Given the description of an element on the screen output the (x, y) to click on. 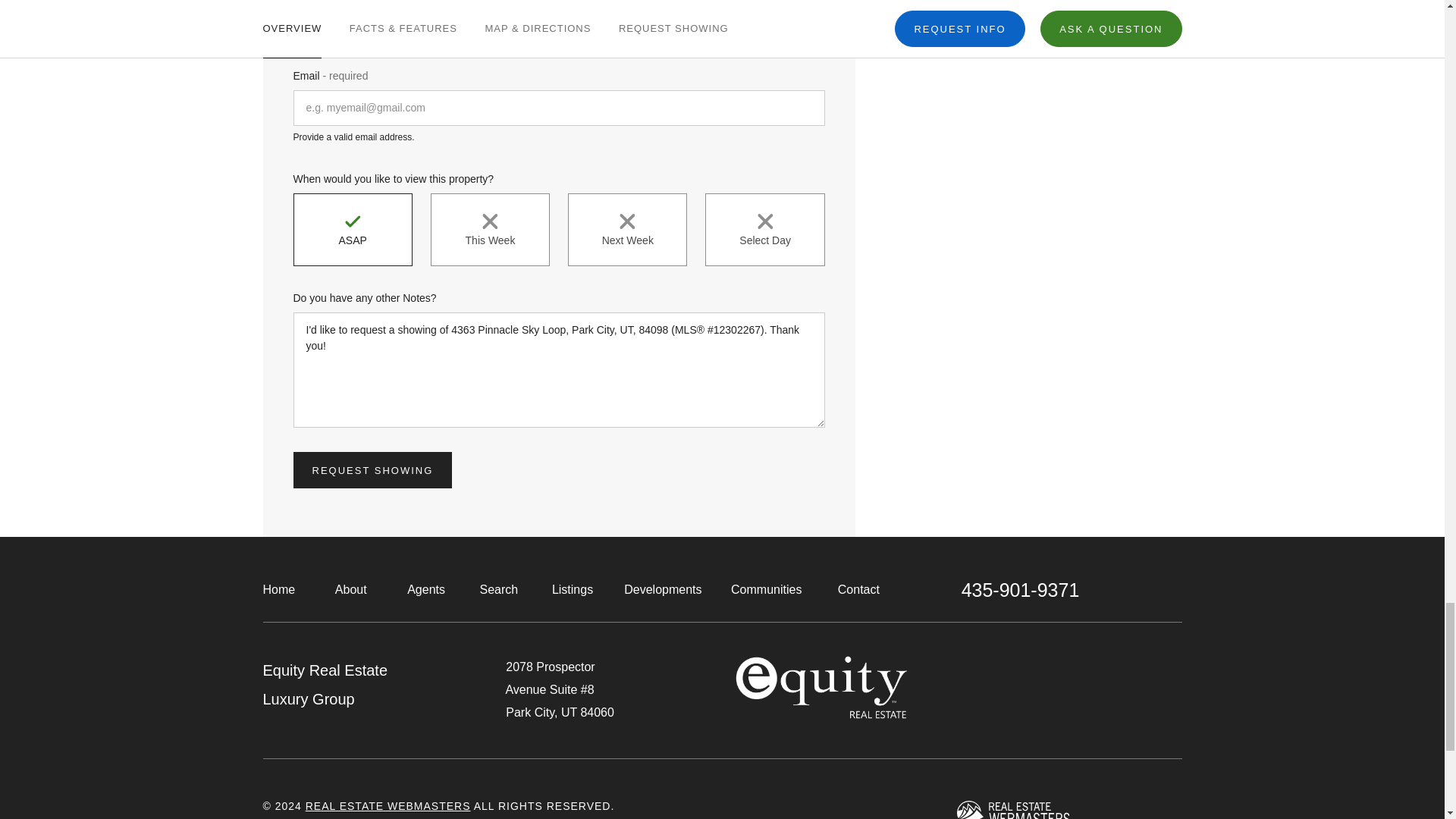
This Week (490, 229)
ASAP (352, 229)
Next Week (627, 229)
